Given the description of an element on the screen output the (x, y) to click on. 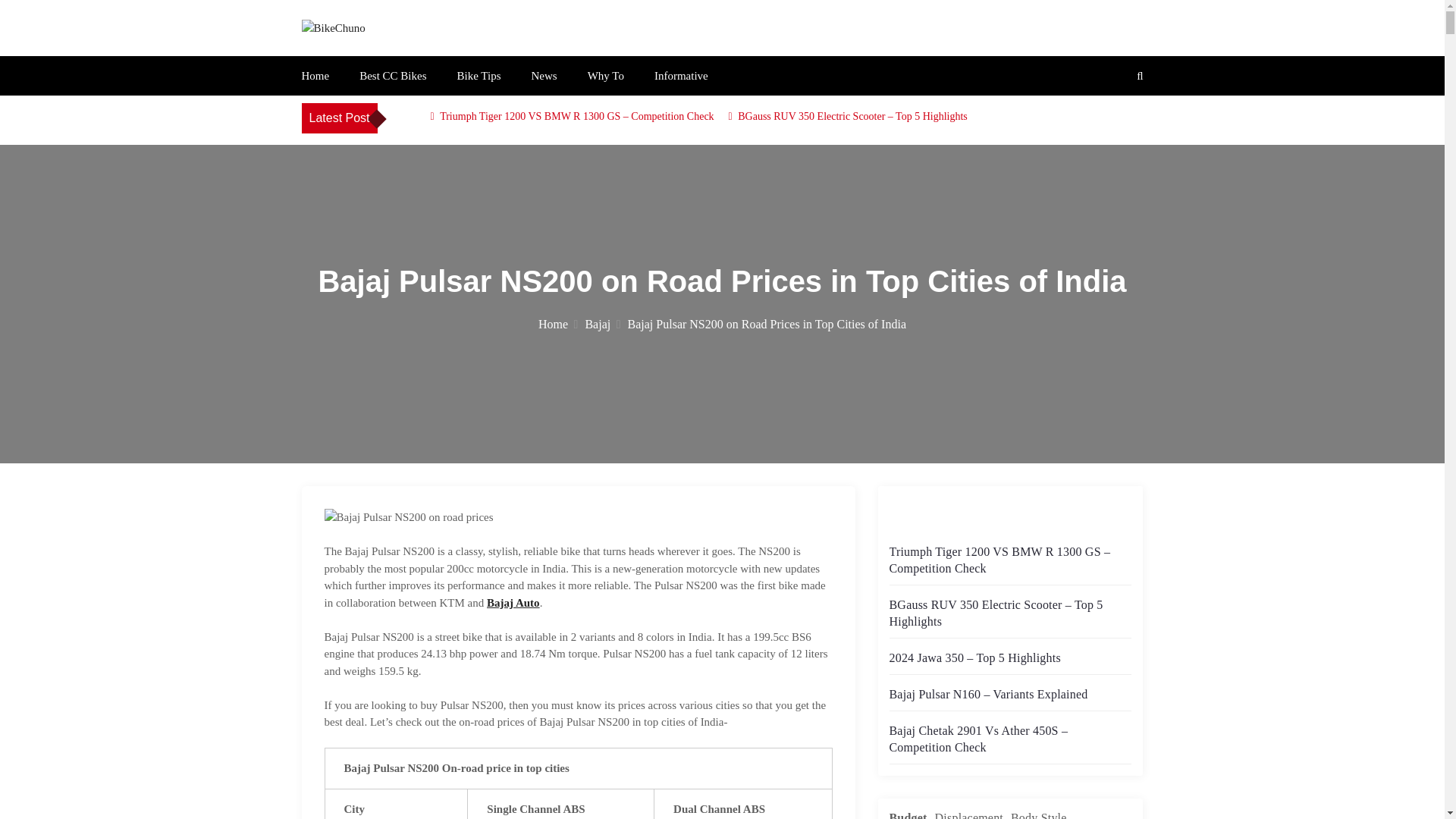
Informative (680, 75)
Why To (606, 75)
Best CC Bikes (392, 75)
Bike Tips (478, 75)
Bajaj (602, 323)
Home (558, 323)
News (543, 75)
BikeChuno (361, 53)
Bajaj Auto (513, 603)
Home (315, 75)
